Given the description of an element on the screen output the (x, y) to click on. 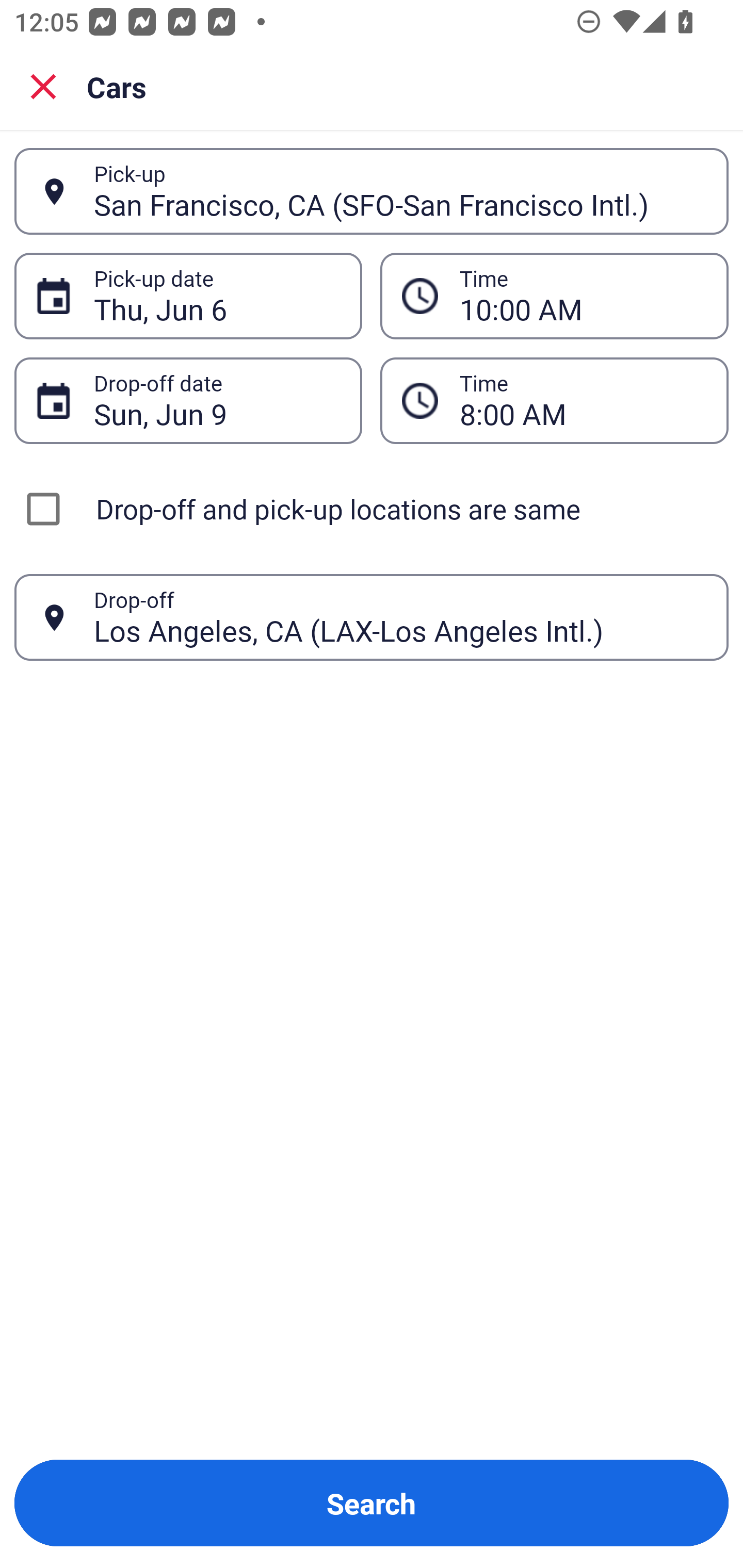
Close search screen (43, 86)
San Francisco, CA (SFO-San Francisco Intl.) (399, 191)
Thu, Jun 6 Pick-up date (188, 295)
10:00 AM (554, 295)
Thu, Jun 6 (216, 296)
10:00 AM (582, 296)
Sun, Jun 9 Drop-off date (188, 400)
8:00 AM (554, 400)
Sun, Jun 9 (216, 400)
8:00 AM (582, 400)
Drop-off and pick-up locations are same (371, 508)
Los Angeles, CA (LAX-Los Angeles Intl.) Drop-off (371, 616)
Los Angeles, CA (LAX-Los Angeles Intl.) (399, 616)
Search Button Search (371, 1502)
